Given the description of an element on the screen output the (x, y) to click on. 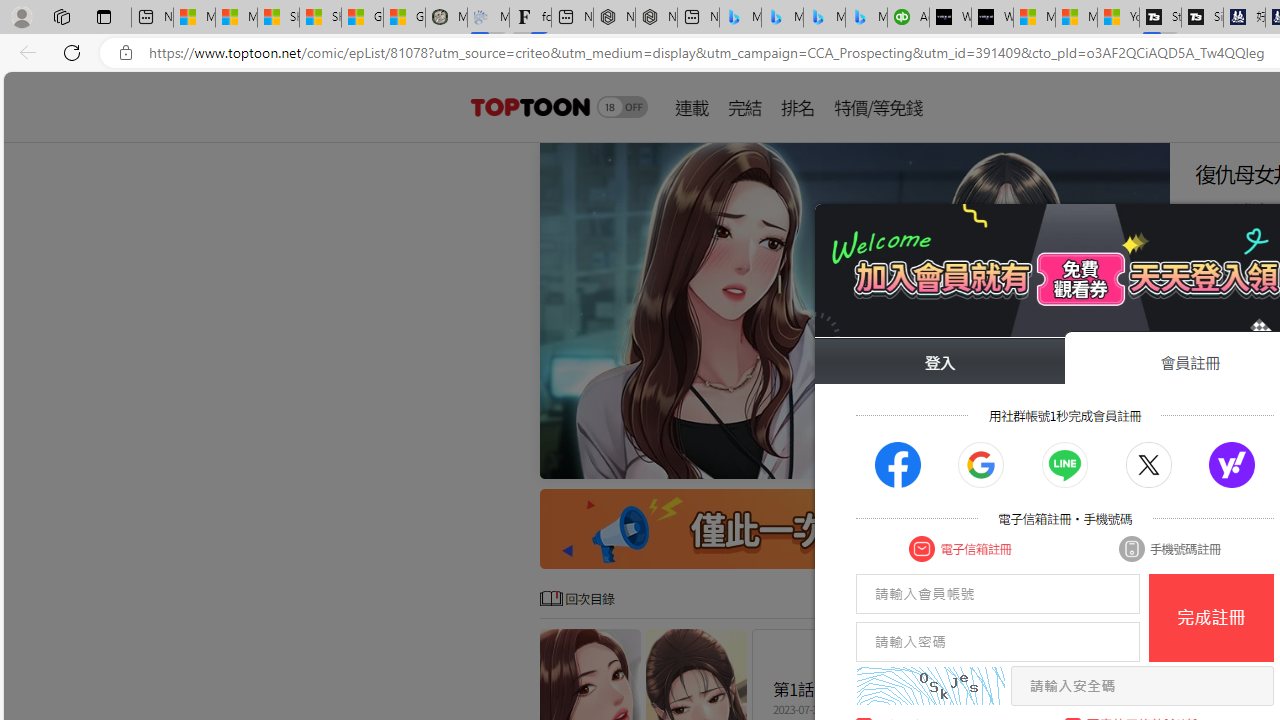
Accounting Software for Accountants, CPAs and Bookkeepers (908, 17)
Class:  switch_18mode actionAdultBtn (621, 106)
Streaming Coverage | T3 (1160, 17)
header (527, 106)
